Given the description of an element on the screen output the (x, y) to click on. 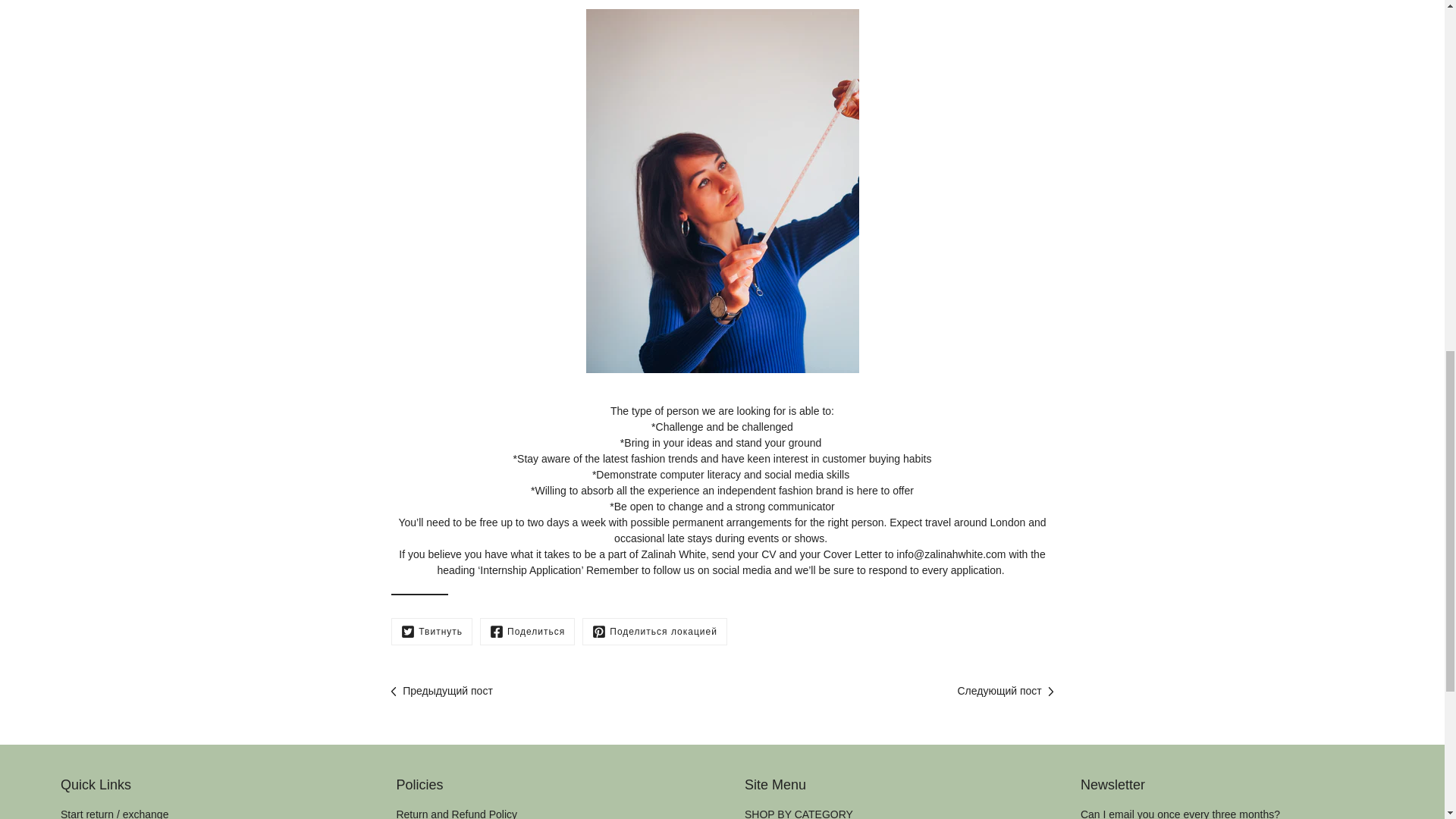
Pinterest (654, 631)
Twitter (431, 631)
Facebook (527, 631)
